Given the description of an element on the screen output the (x, y) to click on. 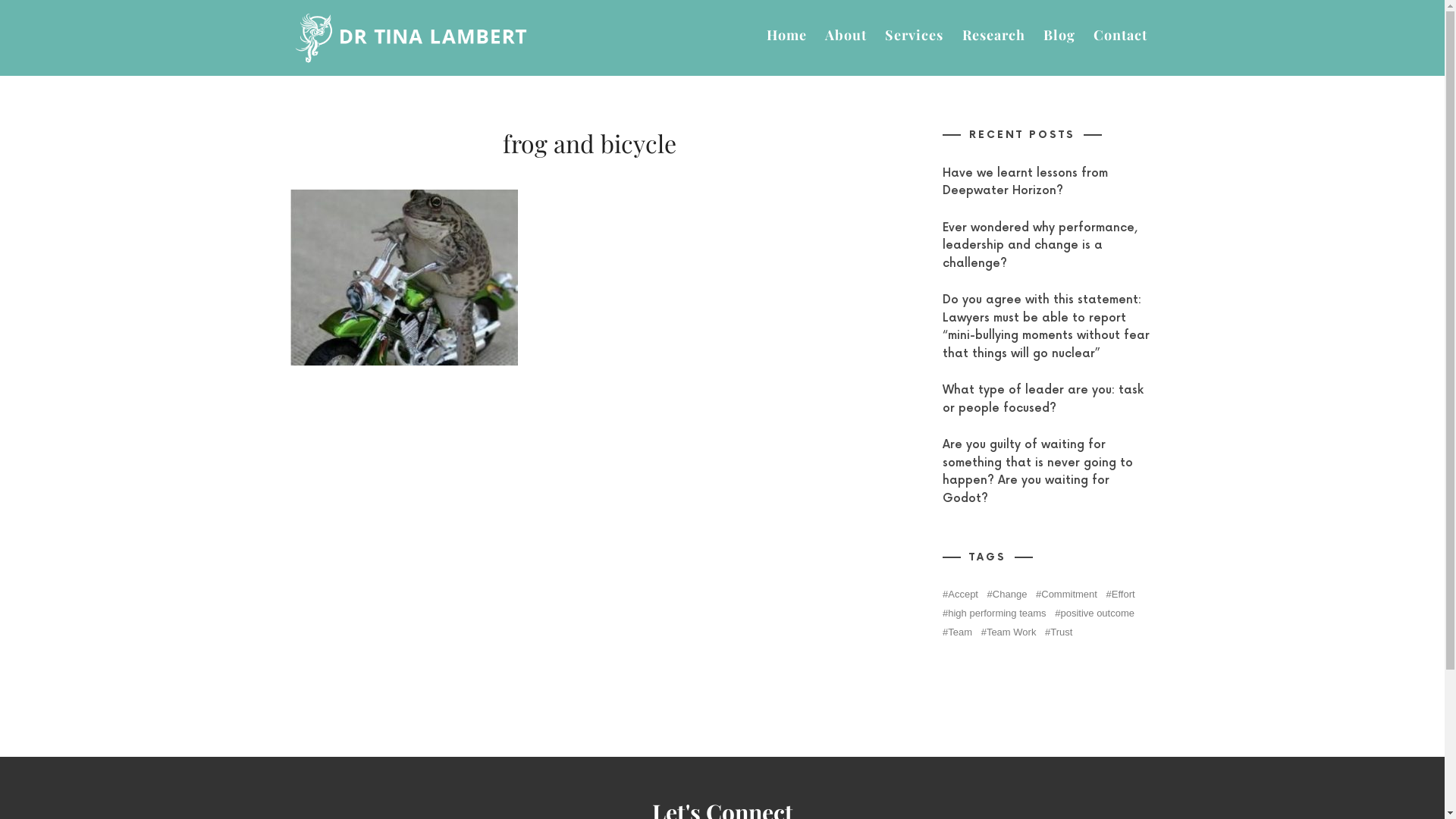
Dr Tina Lambert Element type: text (410, 38)
Effort Element type: text (1119, 594)
Contact Element type: text (1120, 34)
Have we learnt lessons from Deepwater Horizon? Element type: text (1024, 182)
Services Element type: text (913, 34)
Team Work Element type: text (1007, 632)
Accept Element type: text (959, 594)
Research Element type: text (993, 34)
Commitment Element type: text (1066, 594)
Trust Element type: text (1058, 632)
What type of leader are you: task or people focused? Element type: text (1041, 398)
high performing teams Element type: text (993, 613)
Team Element type: text (956, 632)
About Element type: text (845, 34)
Home Element type: text (786, 34)
positive outcome Element type: text (1094, 613)
Blog Element type: text (1059, 34)
Change Element type: text (1006, 594)
